Given the description of an element on the screen output the (x, y) to click on. 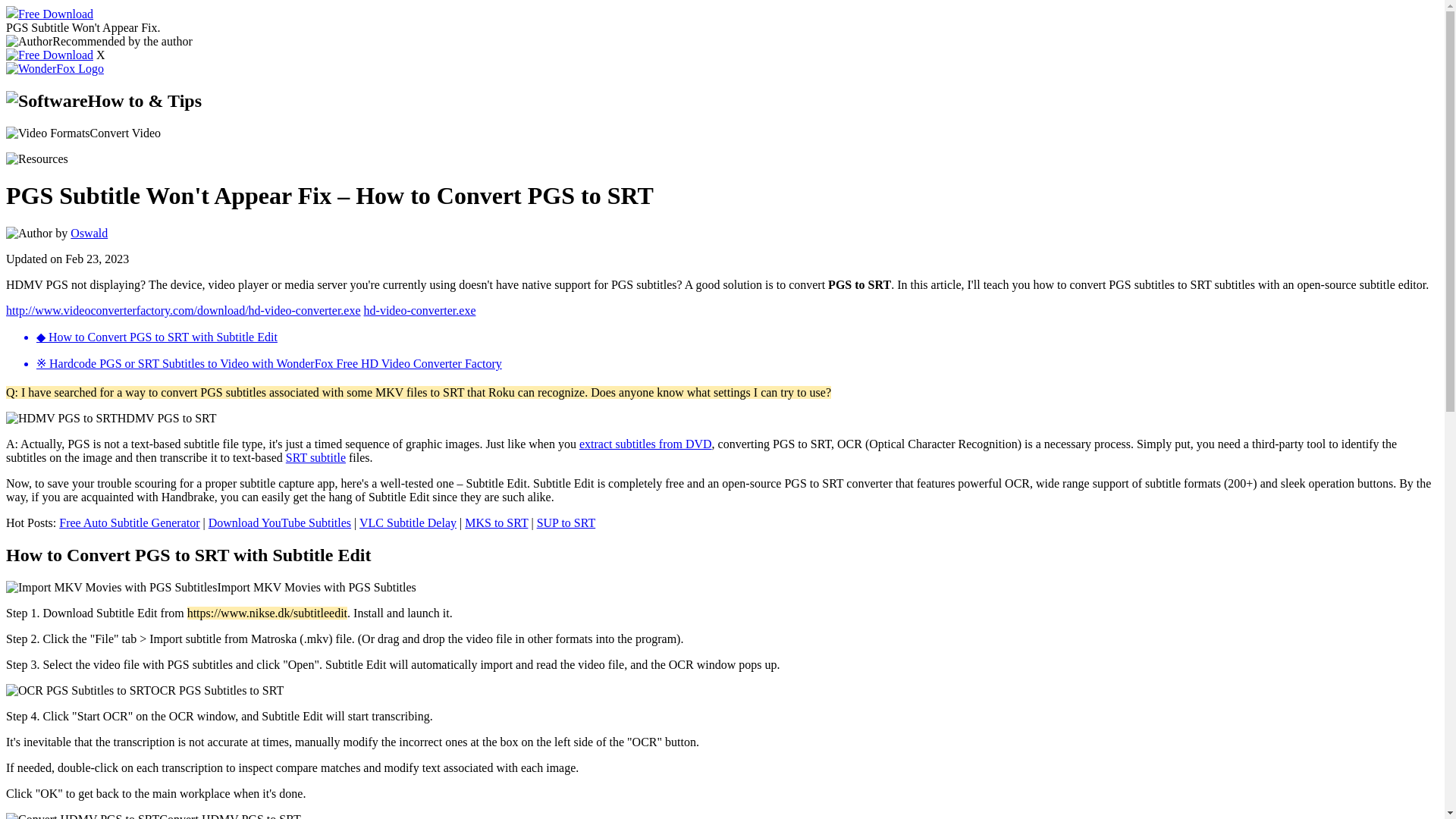
SUP to SRT (566, 522)
Download YouTube Subtitles (279, 522)
Oswald (88, 232)
hd-video-converter.exe (420, 309)
MKS to SRT (495, 522)
Free Auto Subtitle Generator (129, 522)
Free Download (49, 13)
SRT subtitle (315, 457)
VLC Subtitle Delay (408, 522)
WonderFox - the Fastest DVD Ripper and HD Video Converter (54, 69)
